Given the description of an element on the screen output the (x, y) to click on. 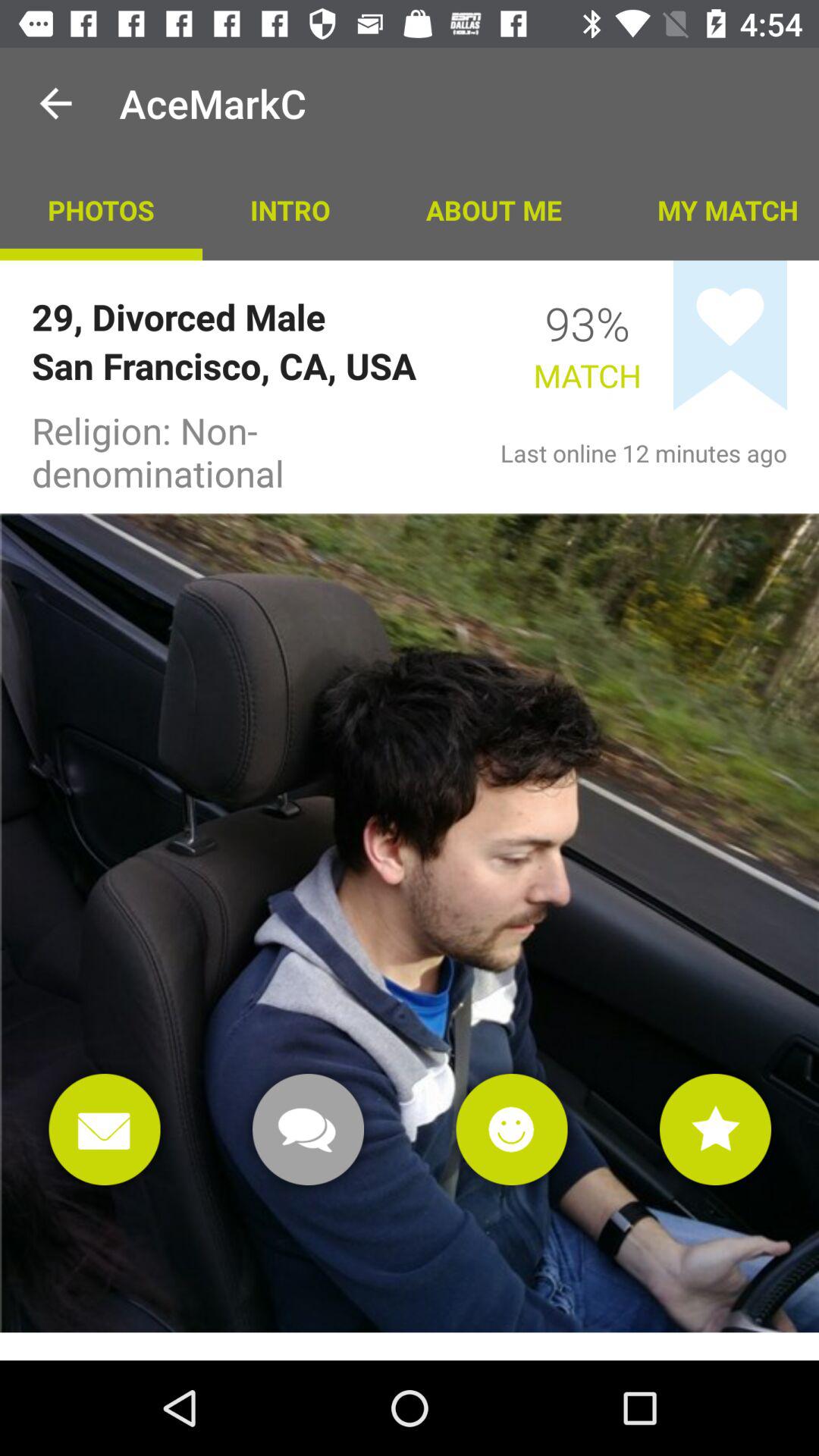
send emoji (511, 1129)
